Given the description of an element on the screen output the (x, y) to click on. 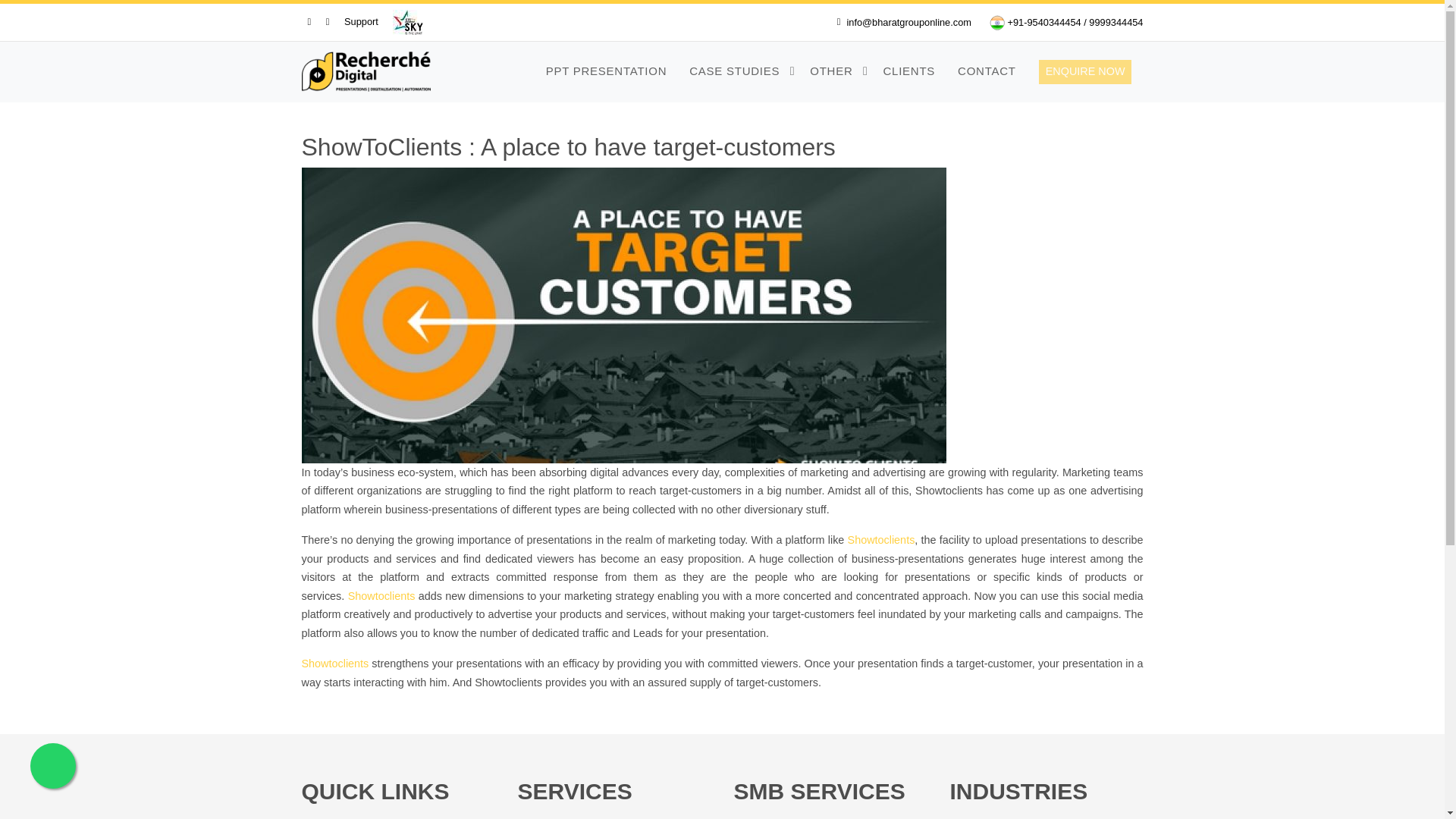
Showtoclients (881, 539)
CASE STUDIES (737, 71)
CONTACT (986, 71)
PPT PRESENTATION (606, 71)
ENQUIRE NOW (1081, 71)
ENQUIRE NOW (1085, 71)
CLIENTS (908, 71)
OTHER (834, 71)
Showtoclients (380, 595)
Support (360, 21)
Showtoclients (335, 663)
